Given the description of an element on the screen output the (x, y) to click on. 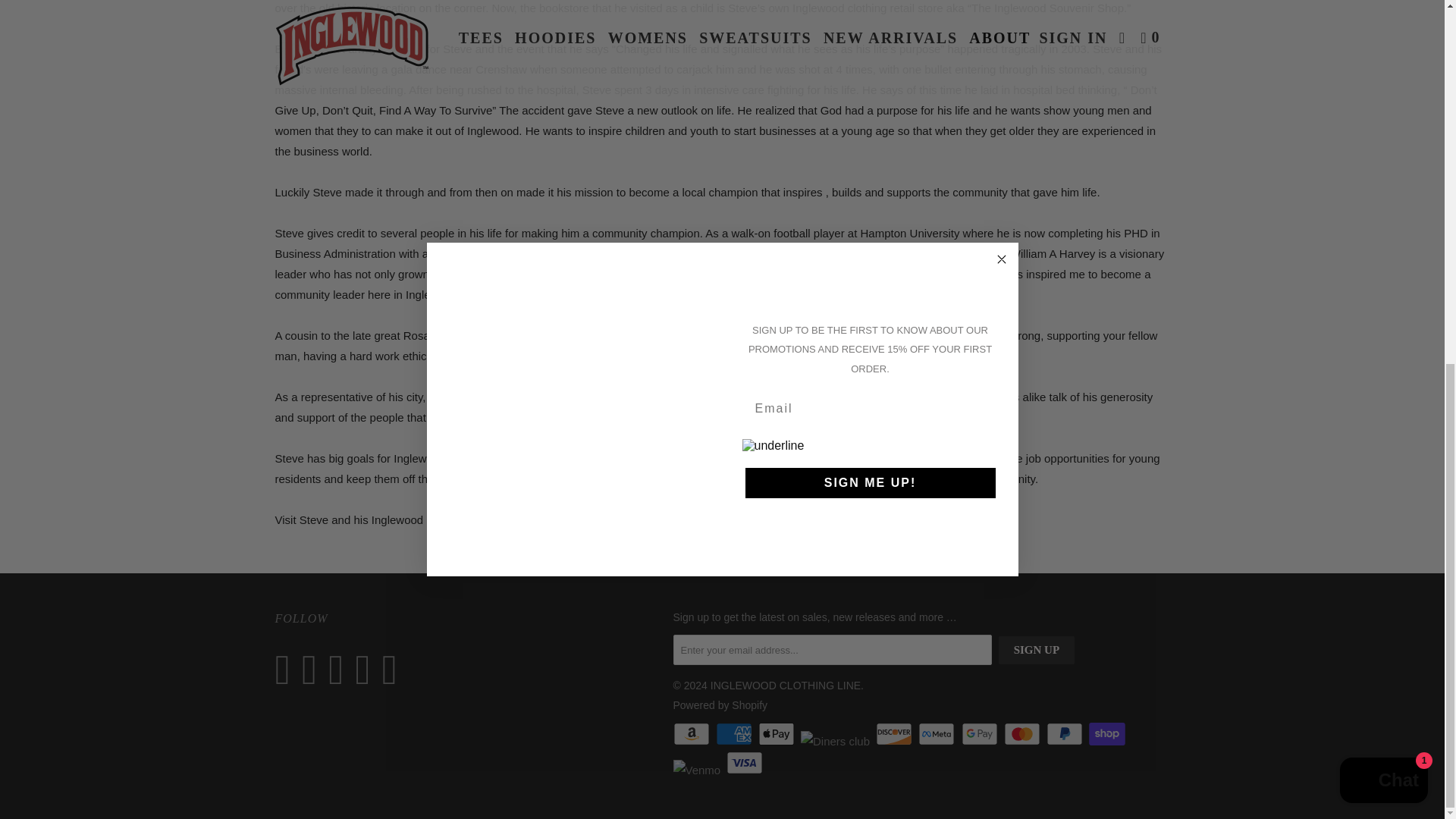
INGLEWOOD CLOTHING LINE on Instagram (340, 670)
Sign Up (1036, 650)
Powered by Shopify (720, 705)
Sign Up (1036, 650)
INGLEWOOD CLOTHING LINE on Twitter (286, 670)
INGLEWOOD CLOTHING LINE on Snapchat (366, 670)
INGLEWOOD CLOTHING LINE (785, 685)
Email INGLEWOOD CLOTHING LINE (393, 670)
Shopify online store chat (1383, 131)
INGLEWOOD CLOTHING LINE on Facebook (312, 670)
